Given the description of an element on the screen output the (x, y) to click on. 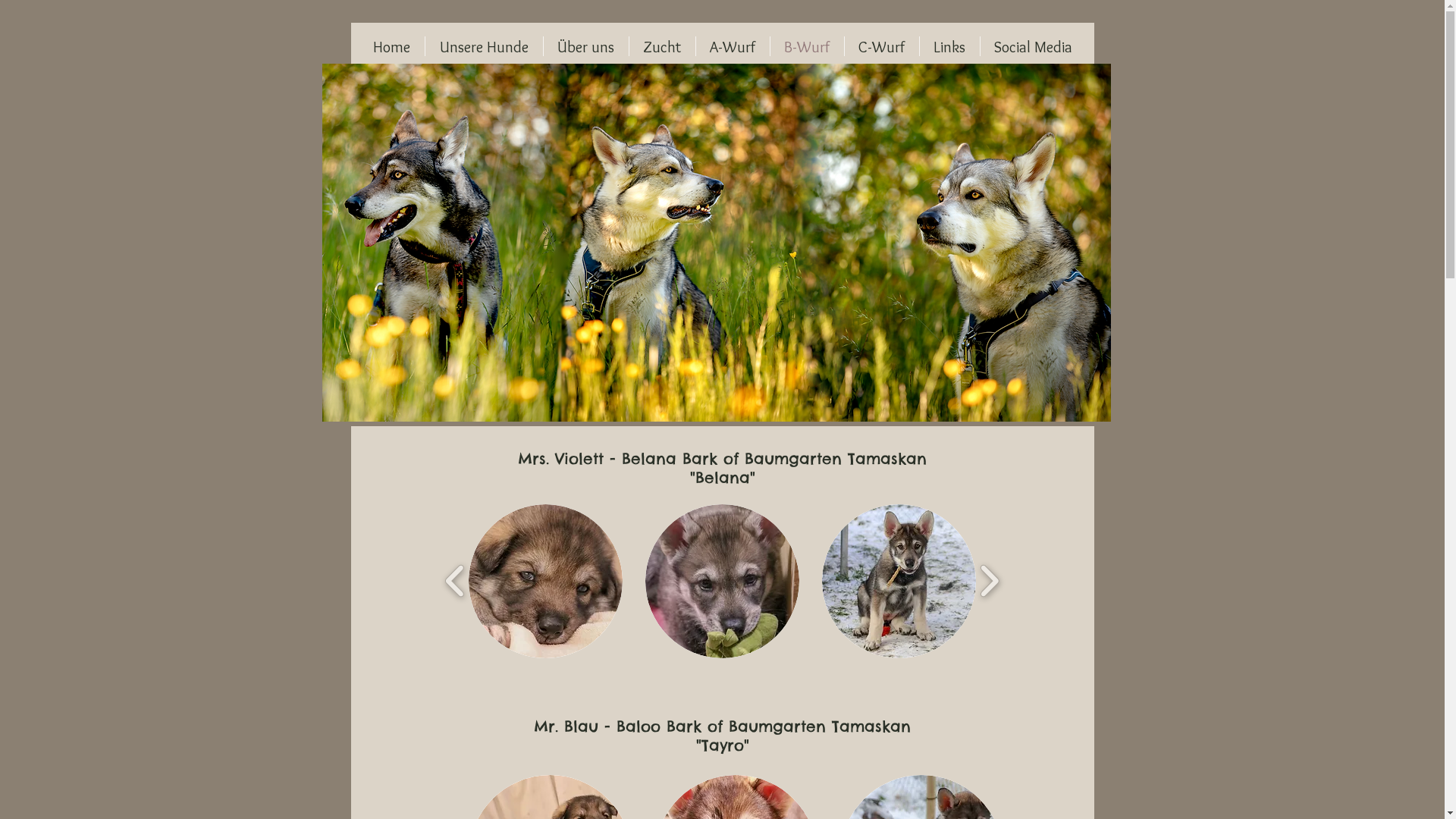
Zucht Element type: text (662, 46)
C-Wurf Element type: text (881, 46)
A-Wurf Element type: text (732, 46)
B-Wurf Element type: text (807, 46)
Links Element type: text (949, 46)
Unsere Hunde Element type: text (483, 46)
Social Media Element type: text (1032, 46)
Home Element type: text (390, 46)
